Given the description of an element on the screen output the (x, y) to click on. 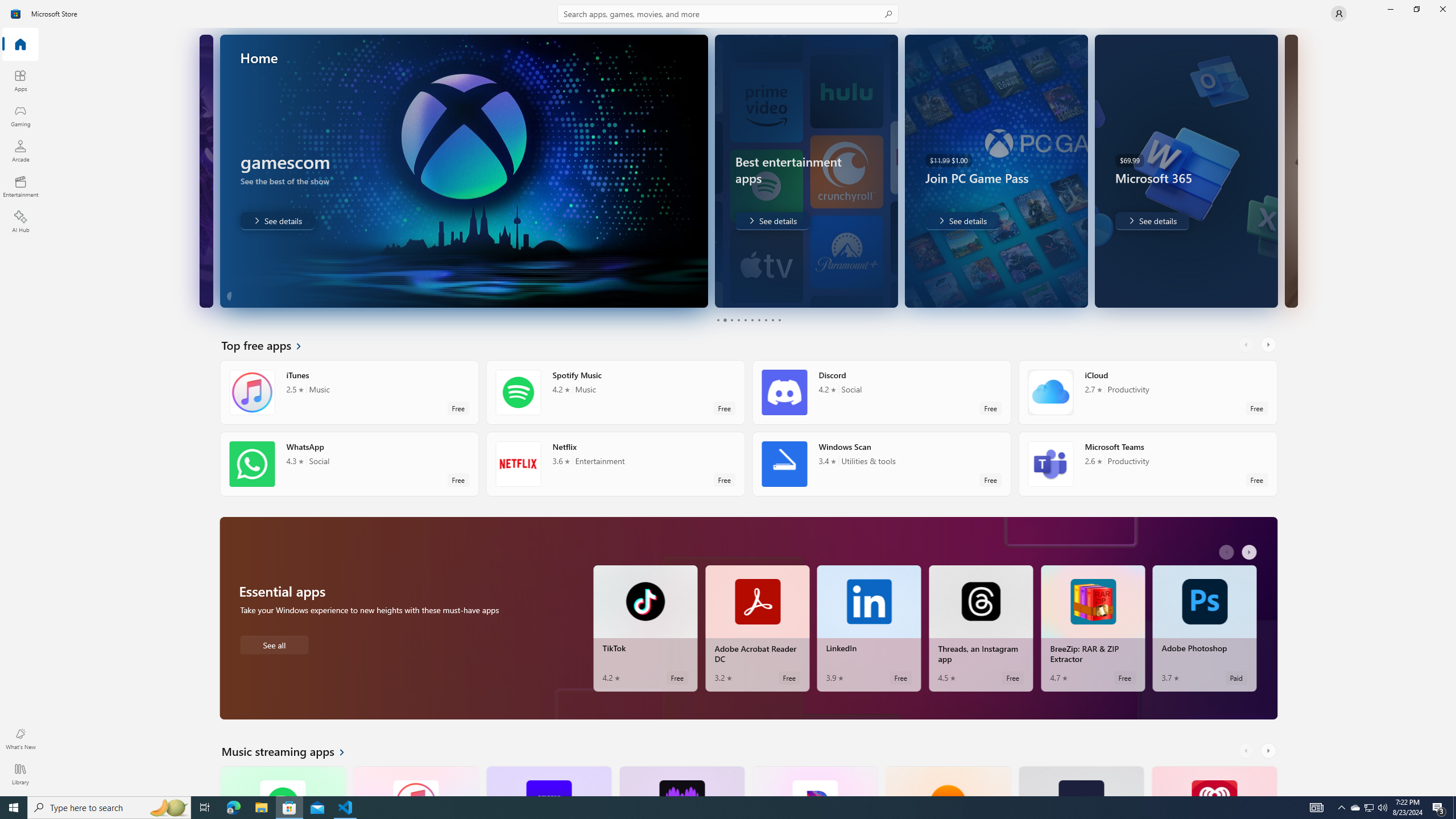
Page 4 (738, 319)
Page 9 (772, 319)
What's New (20, 738)
AutomationID: RightScrollButton (1269, 750)
Minimize Microsoft Store (1390, 9)
Page 7 (758, 319)
Home (20, 45)
Restore Microsoft Store (1416, 9)
User profile (1338, 13)
Page 2 (724, 319)
Apps (20, 80)
Page 8 (764, 319)
Discord. Average rating of 4.2 out of five stars. Free   (881, 392)
